Given the description of an element on the screen output the (x, y) to click on. 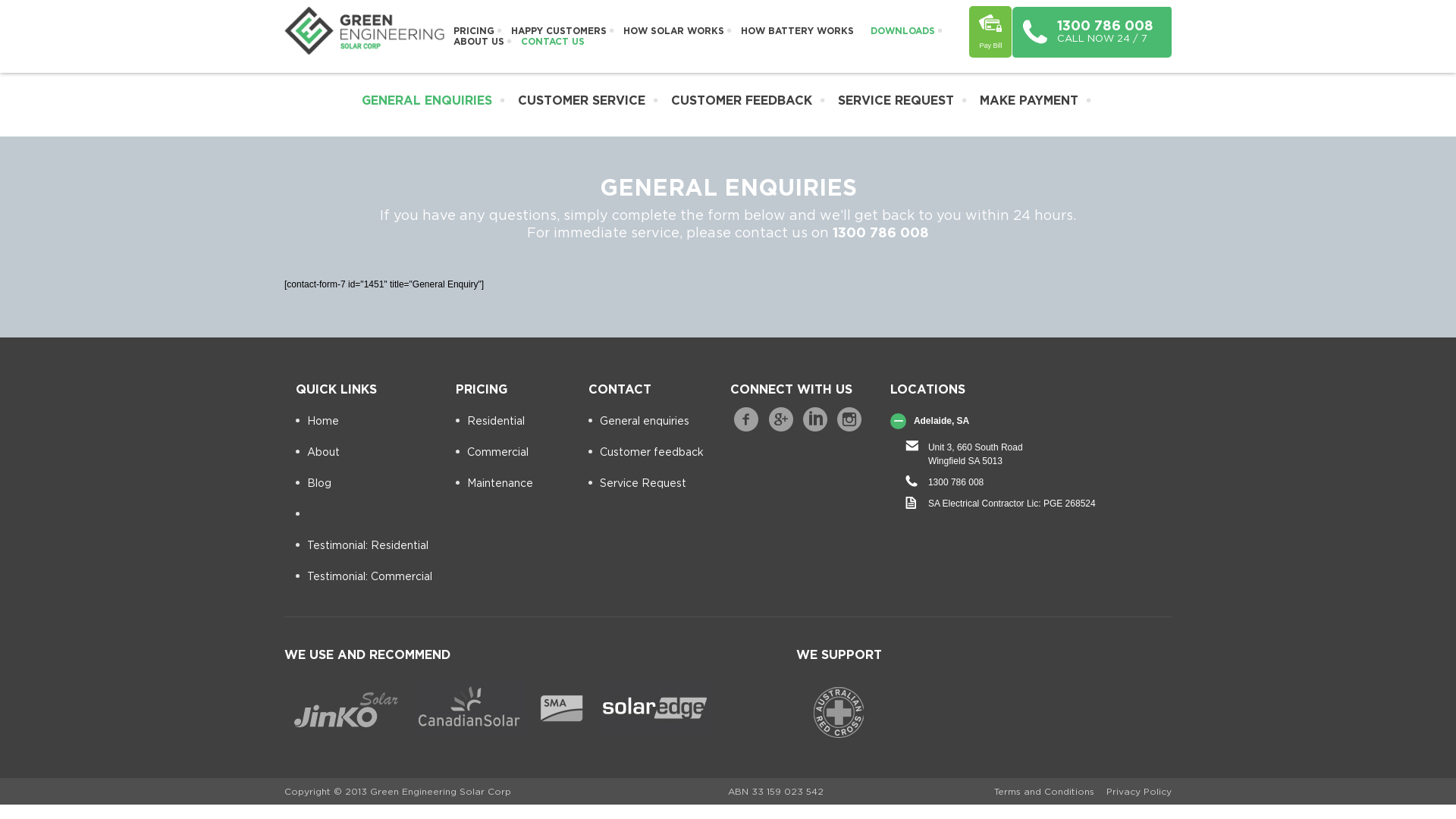
About Element type: text (317, 451)
ABOUT US Element type: text (477, 41)
GENERAL ENQUIRIES Element type: text (426, 99)
Followe on Google Plus Element type: hover (780, 419)
MAKE PAYMENT Element type: text (1028, 99)
General enquiries Element type: text (638, 420)
PRICING Element type: text (473, 30)
Residential Element type: text (489, 420)
Testimonial: Commercial Element type: text (363, 575)
DOWNLOADS Element type: text (901, 30)
Privacy Policy Element type: text (1138, 791)
HOW SOLAR WORKS Element type: text (672, 30)
Service Request Element type: text (637, 482)
Blog Element type: text (313, 482)
Followe on Instagram Element type: hover (849, 419)
CONTACT US Element type: text (551, 41)
CUSTOMER FEEDBACK Element type: text (741, 99)
Commercial Element type: text (491, 451)
Followe on Facebook Element type: hover (746, 419)
HAPPY CUSTOMERS Element type: text (558, 30)
Terms and Conditions Element type: text (1044, 791)
Testimonial: Residential Element type: text (361, 544)
Green Engineering Solar Corp Element type: hover (364, 52)
CUSTOMER SERVICE Element type: text (581, 99)
Maintenance Element type: text (494, 482)
Home Element type: text (316, 420)
Followe on linkedin Element type: hover (815, 419)
SERVICE REQUEST Element type: text (895, 99)
Customer feedback Element type: text (645, 451)
HOW BATTERY WORKS Element type: text (796, 30)
